Given the description of an element on the screen output the (x, y) to click on. 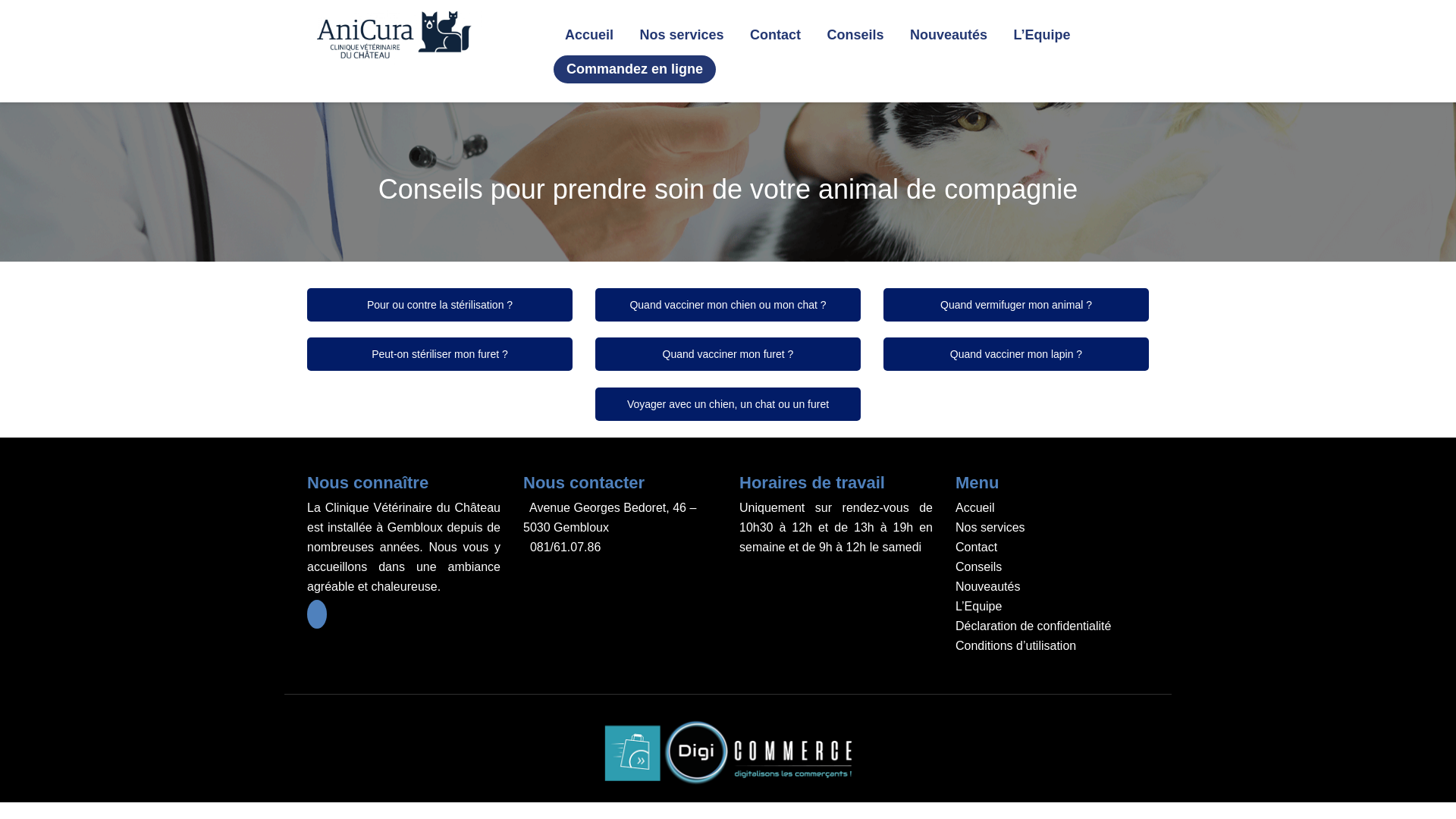
Contact Element type: text (976, 546)
Contact Element type: text (775, 34)
Conseils Element type: text (978, 566)
Nos services Element type: text (680, 34)
Quand vacciner mon lapin ? Element type: text (1015, 353)
Quand vacciner mon furet ? Element type: text (727, 353)
Nos services Element type: text (990, 526)
Commandez en ligne Element type: text (634, 69)
Quand vermifuger mon animal ? Element type: text (1015, 304)
081/61.07.86 Element type: text (565, 546)
Voyager avec un chien, un chat ou un furet Element type: text (727, 403)
Accueil Element type: text (588, 34)
Quand vacciner mon chien ou mon chat ? Element type: text (727, 304)
Accueil Element type: text (974, 507)
Conseils Element type: text (854, 34)
